Given the description of an element on the screen output the (x, y) to click on. 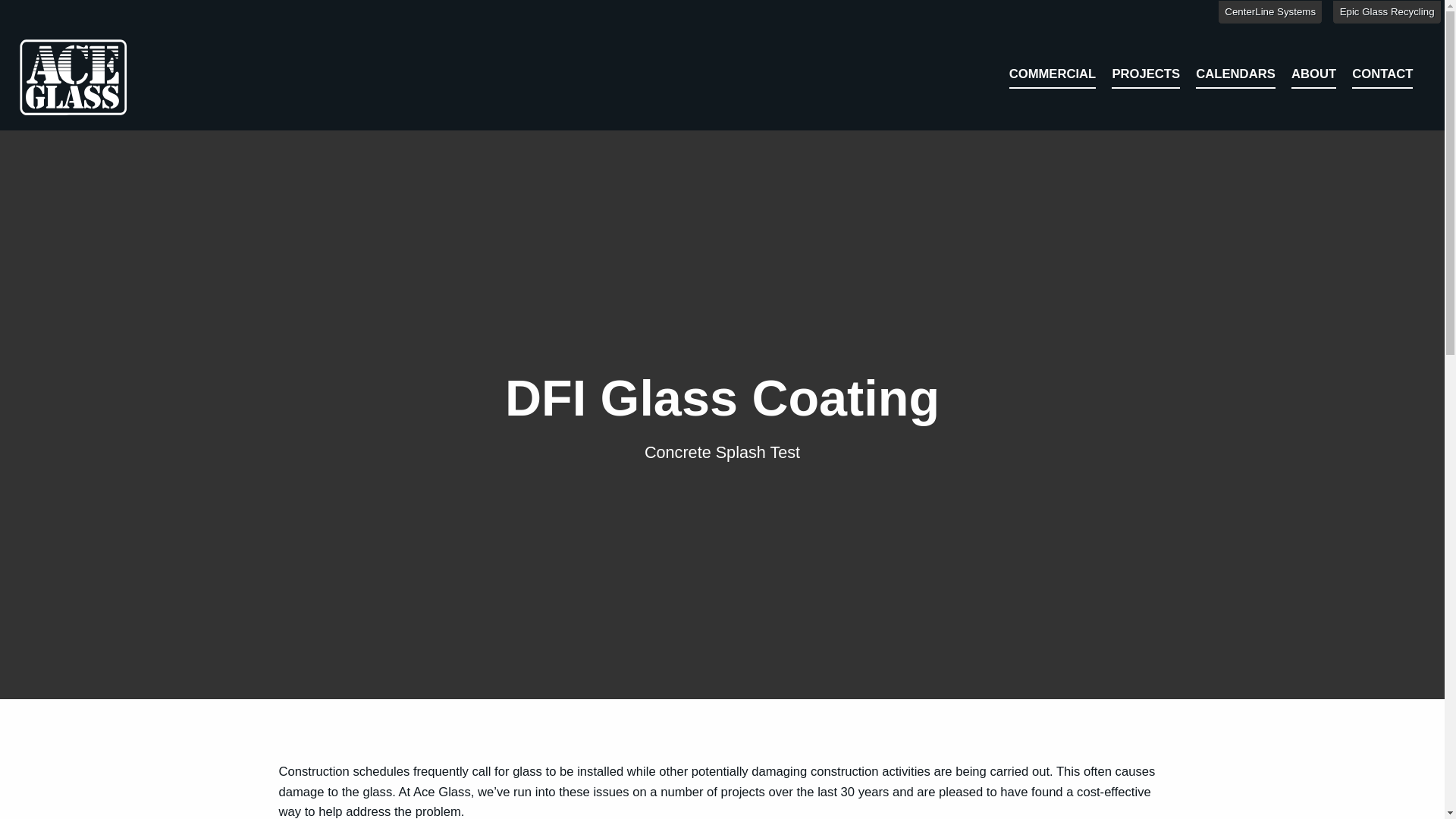
PROJECTS (1145, 77)
COMMERCIAL (1052, 77)
CALENDARS (1235, 77)
ABOUT (1313, 77)
CONTACT (1382, 77)
Epic Glass Recycling (1387, 11)
CenterLine Systems (1270, 11)
